Given the description of an element on the screen output the (x, y) to click on. 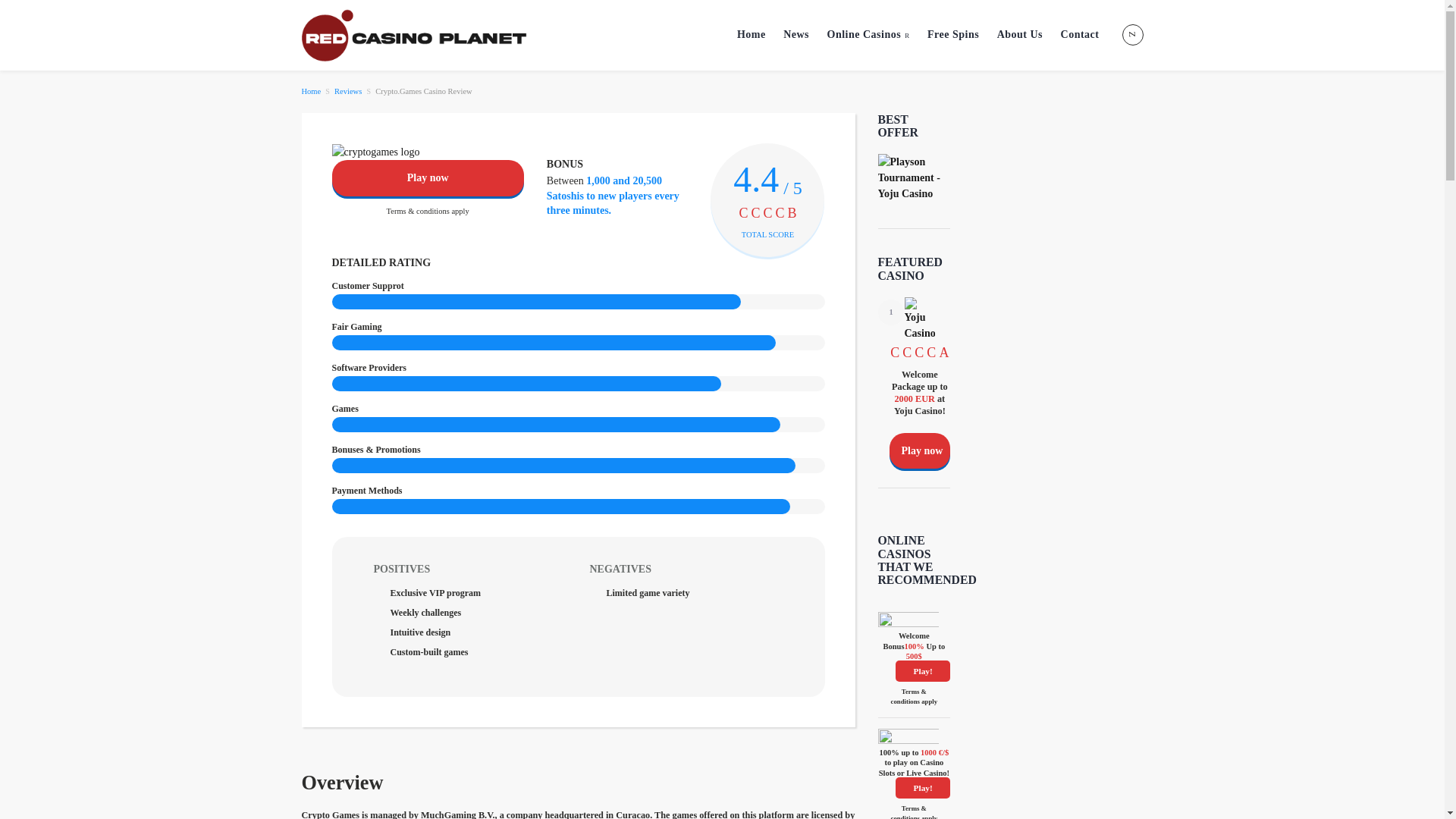
Reviews (347, 90)
Reviews (347, 90)
Play now (427, 177)
Contact (1080, 34)
Online Casinos (868, 35)
Home (311, 90)
Home (311, 90)
Selected offer (913, 177)
Free Spins (952, 34)
Crypto.Games Casino Review (423, 90)
